Given the description of an element on the screen output the (x, y) to click on. 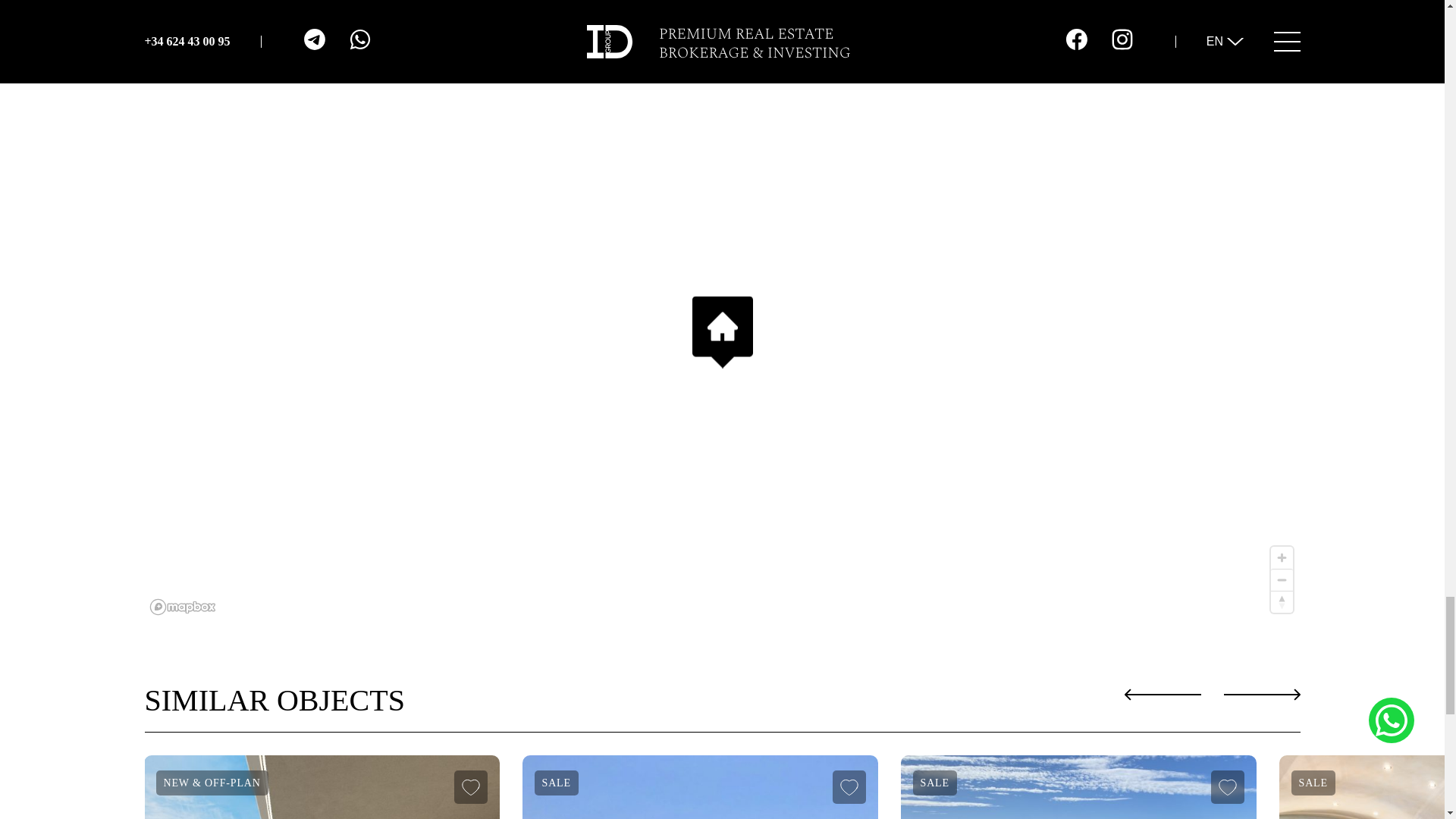
Zoom in (1281, 557)
Zoom out (1281, 579)
Reset bearing to north (1281, 601)
